Given the description of an element on the screen output the (x, y) to click on. 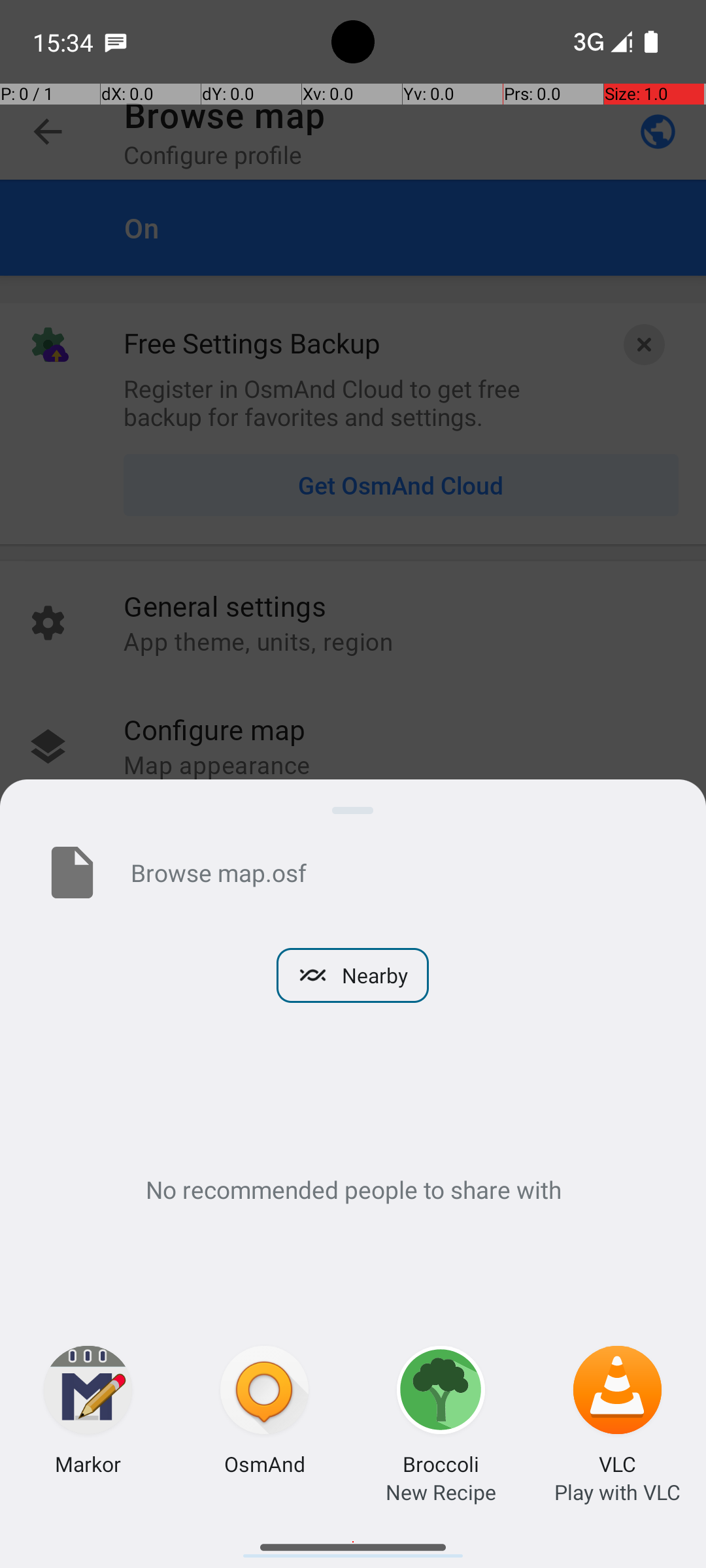
Apps list Element type: android.widget.ImageView (353, 1541)
Browse map.osf Element type: android.widget.TextView (397, 872)
Nearby Element type: android.widget.Button (352, 975)
No recommended people to share with Element type: android.widget.TextView (353, 1189)
OsmAnd Element type: android.widget.TextView (264, 1463)
Broccoli Element type: android.widget.TextView (440, 1463)
New Recipe Element type: android.widget.TextView (440, 1491)
VLC Element type: android.widget.TextView (617, 1463)
Play with VLC Element type: android.widget.TextView (617, 1491)
